Given the description of an element on the screen output the (x, y) to click on. 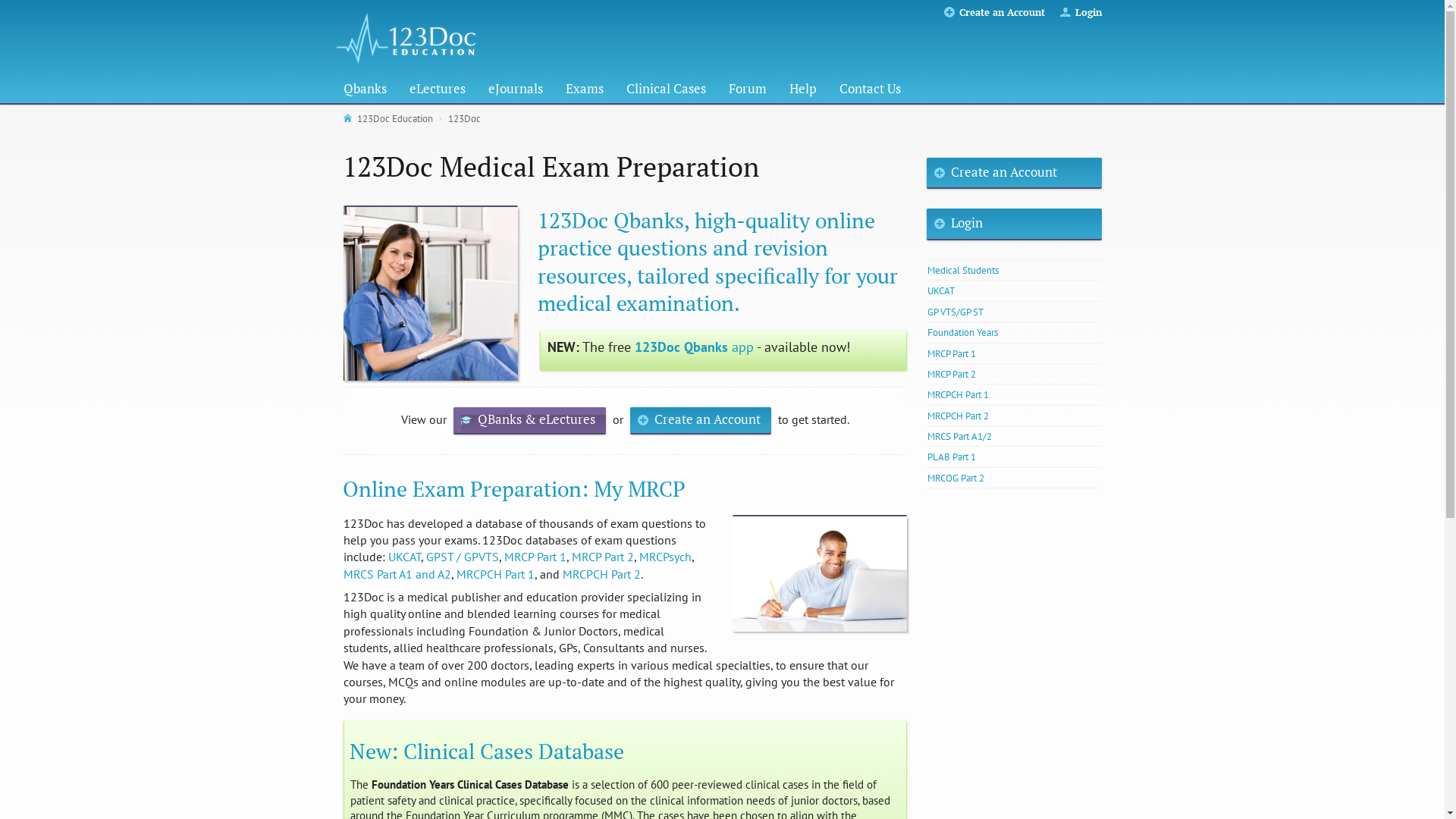
MRCOG Part 2 Element type: text (1013, 477)
Create an Account Element type: text (700, 420)
MRCP Part 1 Element type: text (1013, 353)
Foundation Years Element type: text (1013, 332)
Help Element type: text (802, 89)
eLectures Element type: text (437, 89)
MRCP Part 1 Element type: text (534, 556)
Contact Us Element type: text (869, 89)
UKCAT Element type: text (404, 556)
123Doc Element type: text (463, 118)
PLAB Part 1 Element type: text (1013, 456)
Qbanks Element type: text (364, 89)
Clinical Cases Element type: text (665, 89)
MRCP Part 2 Element type: text (1013, 373)
GPST / GPVTS Element type: text (462, 556)
Forum Element type: text (746, 89)
Login Element type: text (1088, 11)
MRCPsych Element type: text (664, 556)
Exams Element type: text (584, 89)
Login Element type: text (1013, 224)
Create an Account Element type: text (1001, 11)
QBanks & eLectures Element type: text (529, 420)
MRCS Part A1 and A2 Element type: text (396, 573)
123Doc Qbanks app Element type: text (693, 346)
eJournals Element type: text (515, 89)
MRCPCH Part 2 Element type: text (1013, 415)
Create an Account Element type: text (1013, 173)
MRCPCH Part 1 Element type: text (1013, 394)
MRCS Part A1/2 Element type: text (1013, 435)
Medical Students Element type: text (1013, 269)
MRCPCH Part 2 Element type: text (601, 573)
MRCPCH Part 1 Element type: text (495, 573)
123Doc Education Element type: text (388, 118)
GP VTS/GP ST Element type: text (1013, 311)
UKCAT Element type: text (1013, 290)
MRCP Part 2 Element type: text (602, 556)
